Given the description of an element on the screen output the (x, y) to click on. 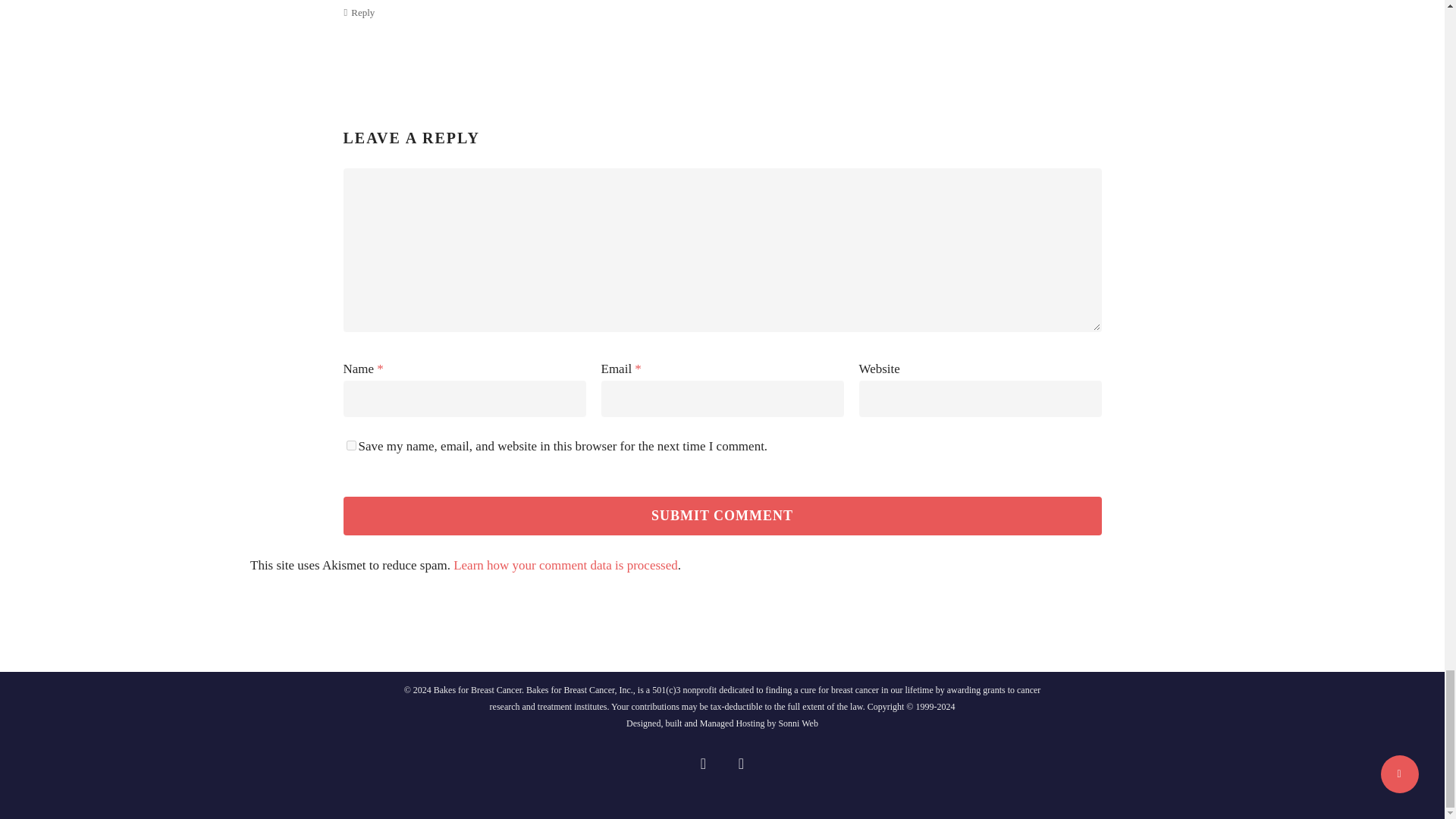
yes (350, 445)
Submit Comment (721, 515)
